Given the description of an element on the screen output the (x, y) to click on. 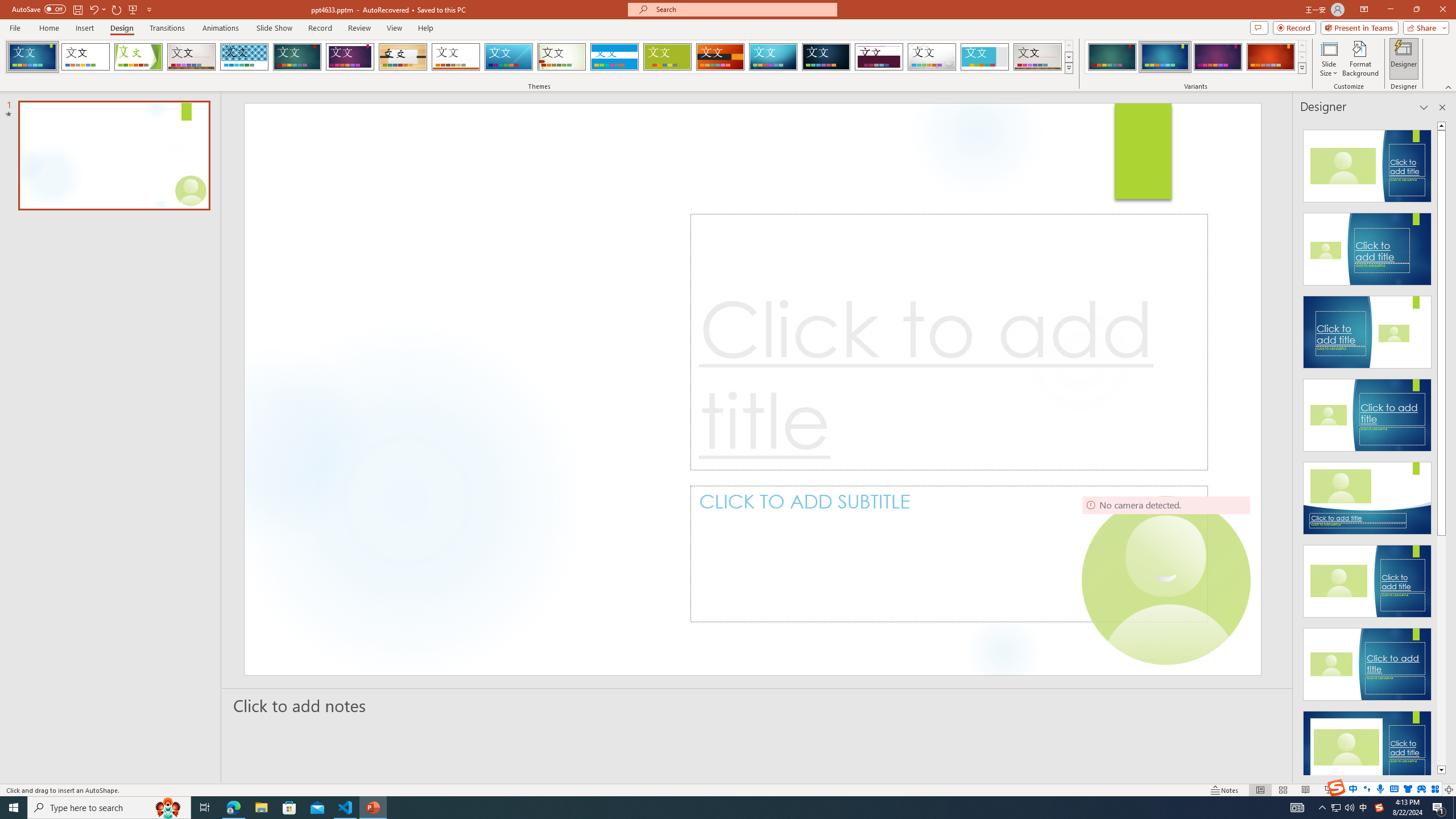
Insert (83, 28)
Zoom 140% (1430, 790)
From Beginning (133, 9)
Class: MsoCommandBar (728, 789)
Share (1423, 27)
Wisp Loading Preview... (561, 56)
Integral (244, 56)
Design Idea (1366, 743)
AutomationID: ThemeVariantsGallery (1195, 56)
Comments (1259, 27)
Home (48, 28)
Zoom In (1412, 790)
Minimize (1390, 9)
Zoom (1379, 790)
Ion Boardroom Loading Preview... (350, 56)
